Given the description of an element on the screen output the (x, y) to click on. 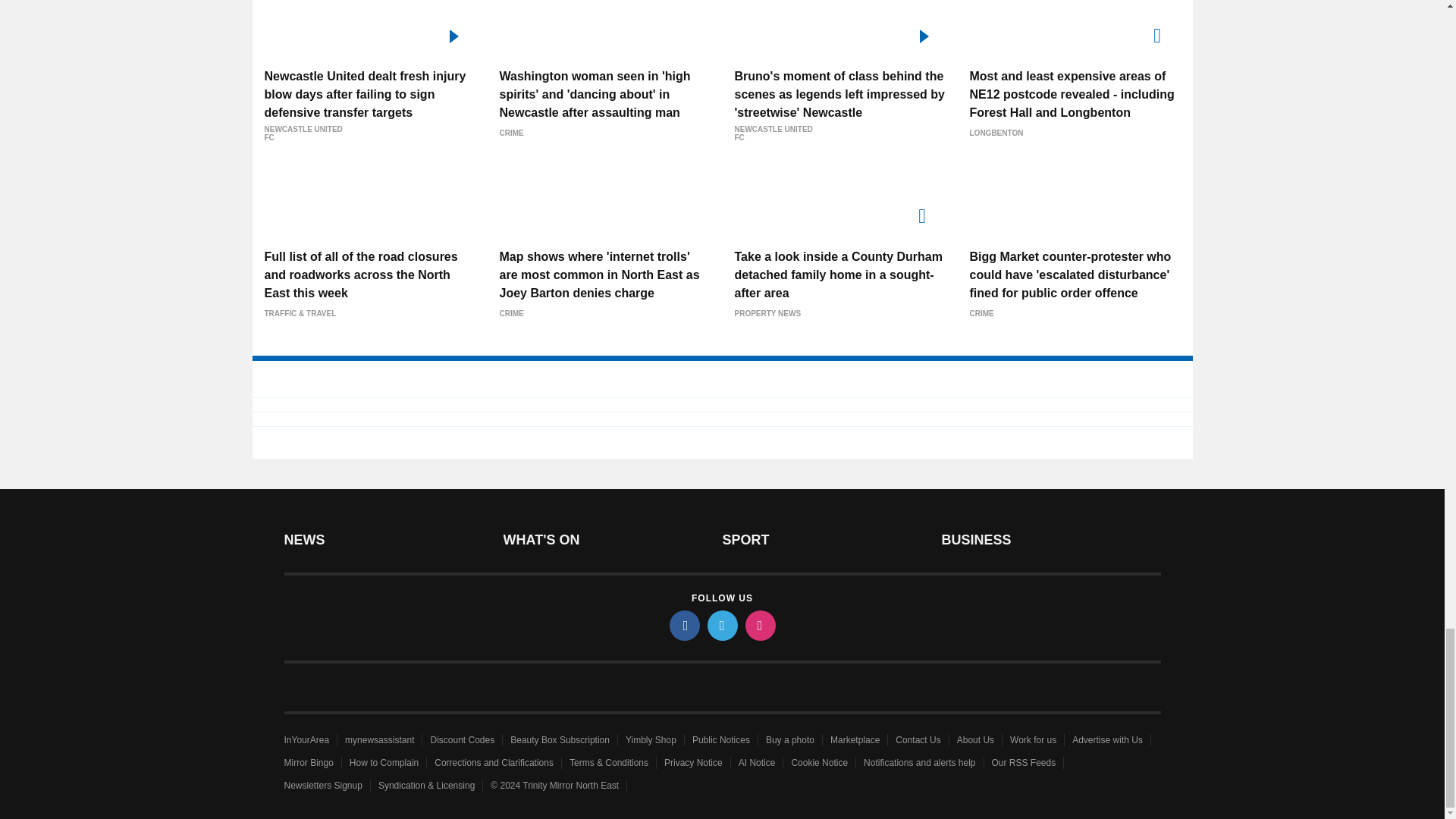
facebook (683, 625)
twitter (721, 625)
instagram (759, 625)
